Given the description of an element on the screen output the (x, y) to click on. 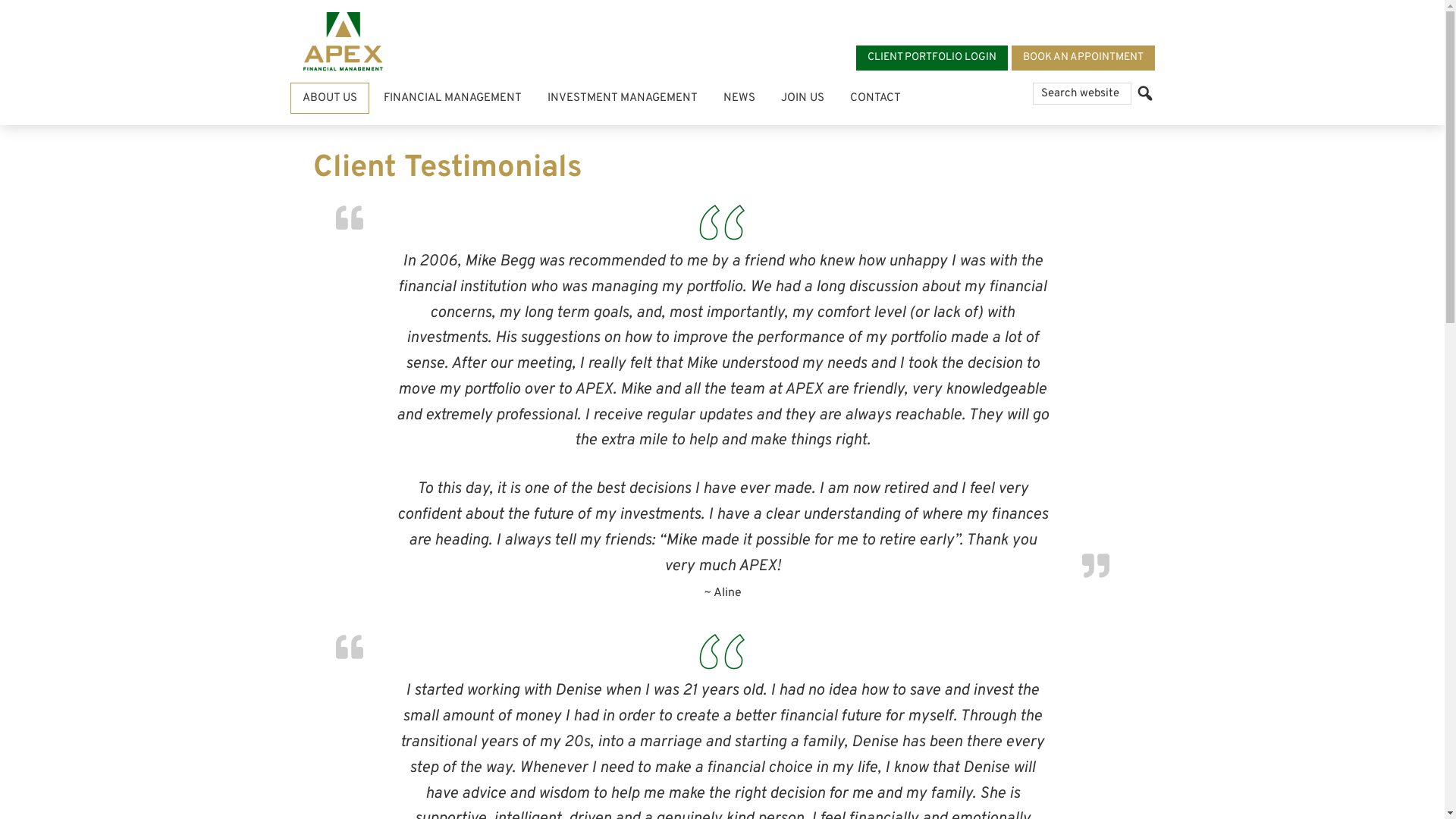
JOIN US Element type: text (801, 97)
CLIENT PORTFOLIO LOGIN Element type: text (931, 57)
ABOUT US Element type: text (328, 97)
CONTACT Element type: text (875, 97)
FINANCIAL MANAGEMENT Element type: text (451, 97)
BOOK AN APPOINTMENT Element type: text (1082, 57)
INVESTMENT MANAGEMENT Element type: text (621, 97)
NEWS Element type: text (738, 97)
Skip to primary navigation Element type: text (0, 0)
